Given the description of an element on the screen output the (x, y) to click on. 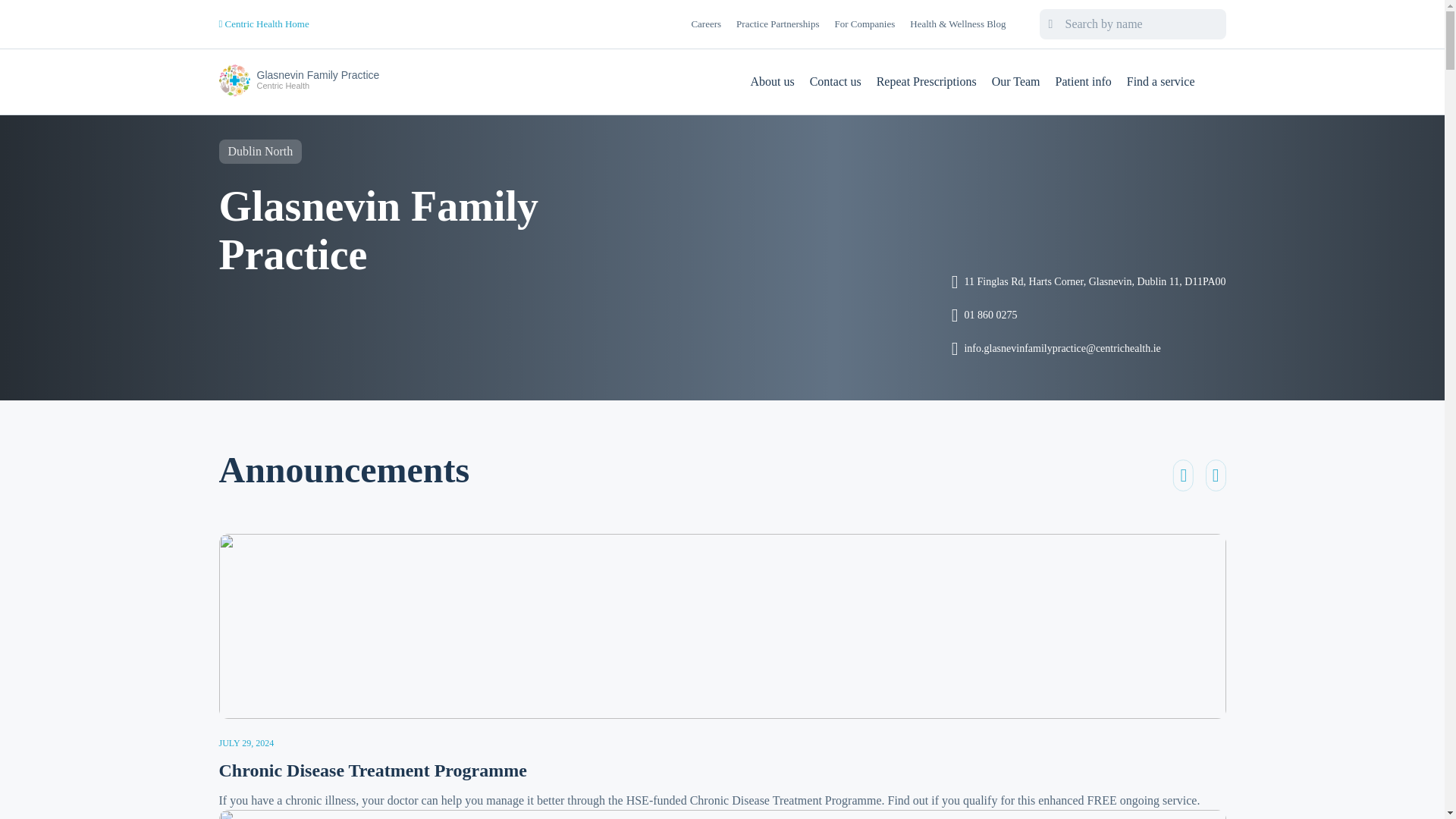
Centric Health Home (263, 24)
Our Team (1016, 81)
Patient info (1083, 81)
Find a service (1160, 81)
11 Finglas Rd, Harts Corner, Glasnevin, Dublin 11, D11PA00 (298, 81)
Contact us (1088, 281)
01 860 0275 (835, 81)
Practice Partnerships (1088, 315)
For Companies (777, 24)
Repeat Prescriptions (864, 24)
Careers (926, 81)
About us (705, 24)
